Given the description of an element on the screen output the (x, y) to click on. 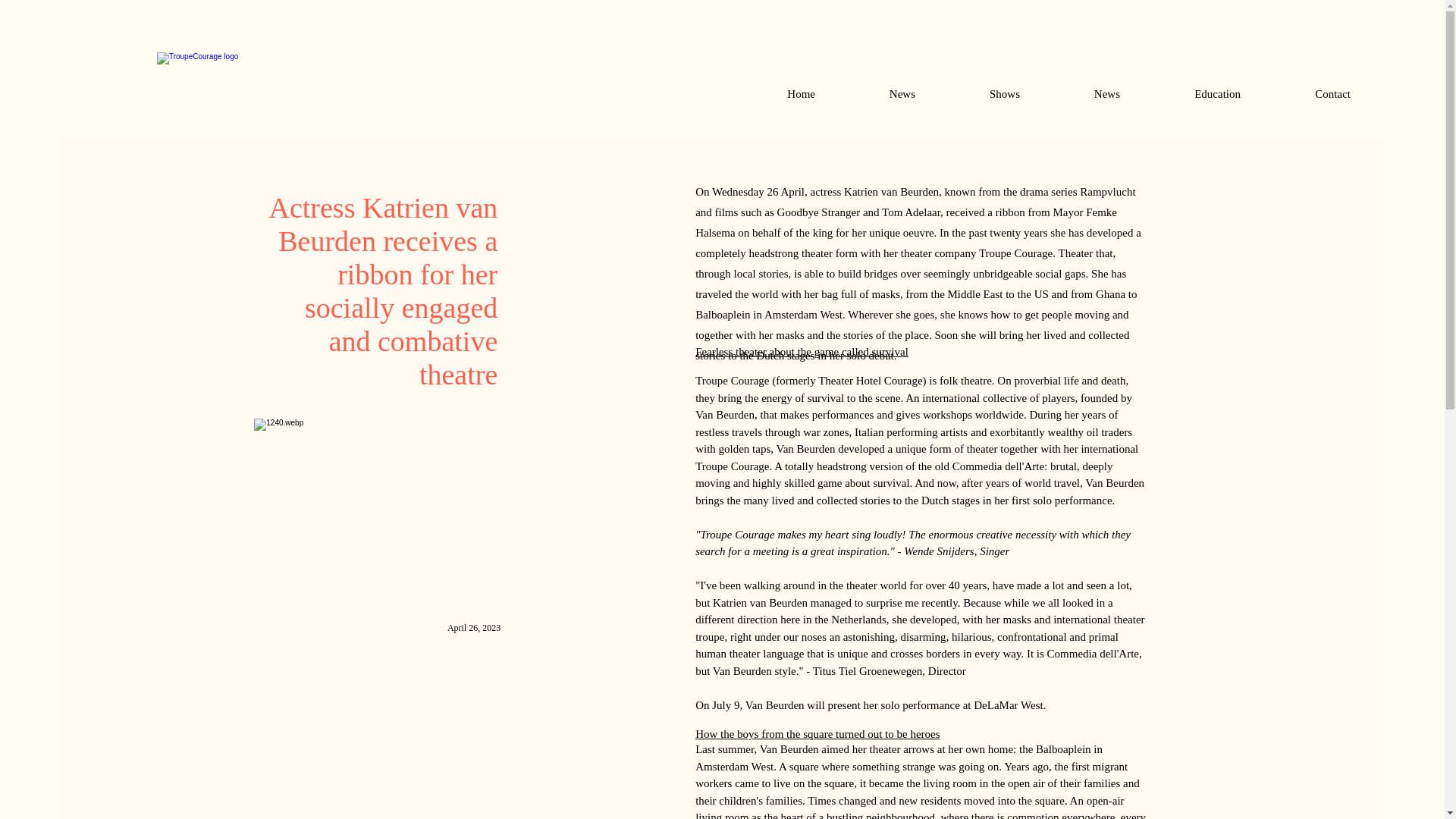
Home (775, 93)
Education (1191, 93)
Contact (1306, 93)
Shows (978, 93)
News (876, 93)
e8a8cf7c-e836-4c8e-a150-099bff207018.jpg (376, 511)
News (1080, 93)
